Given the description of an element on the screen output the (x, y) to click on. 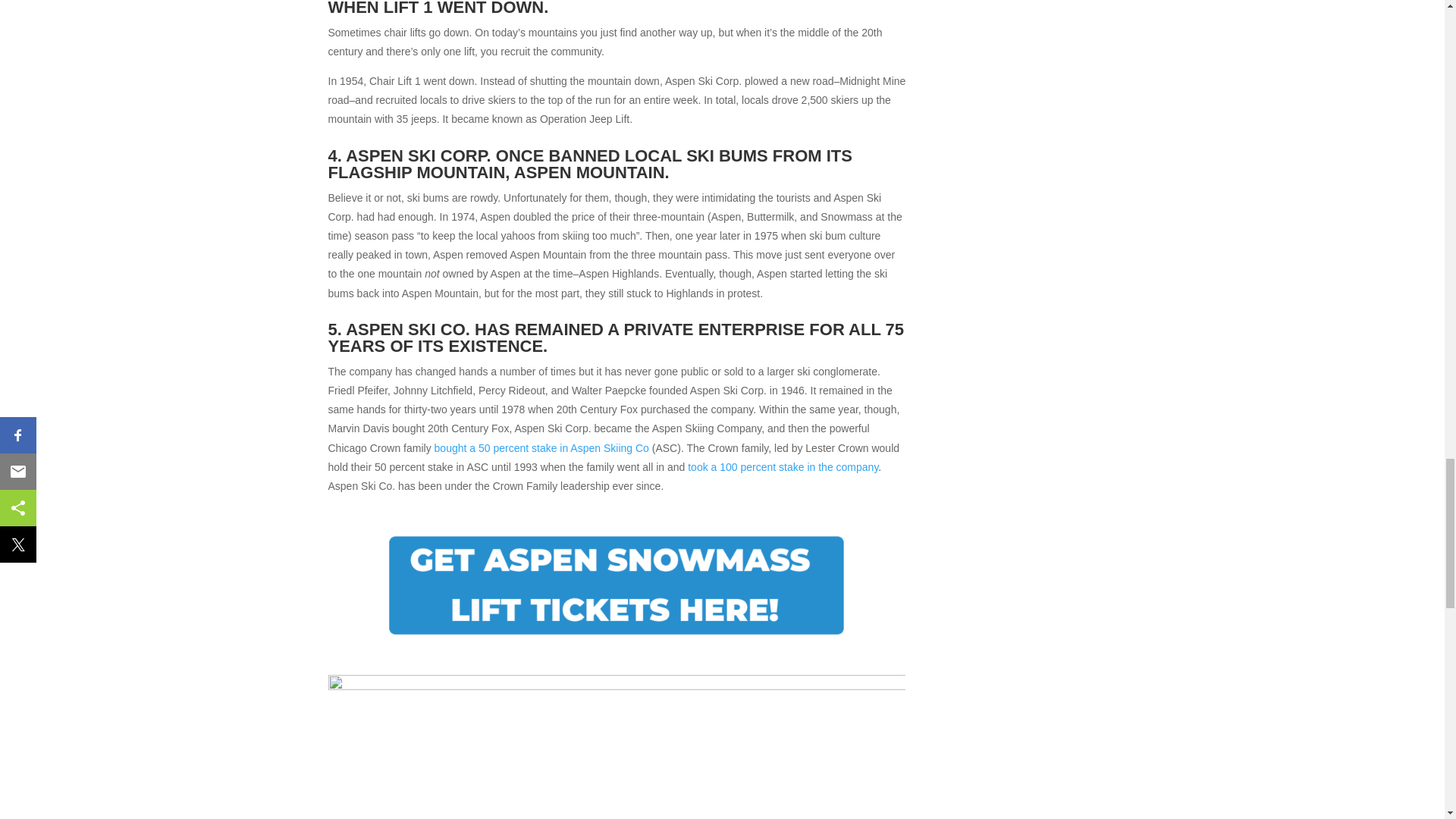
bought a 50 percent stake in Aspen Skiing Co (541, 448)
took a 100 percent stake in the company (782, 467)
